Given the description of an element on the screen output the (x, y) to click on. 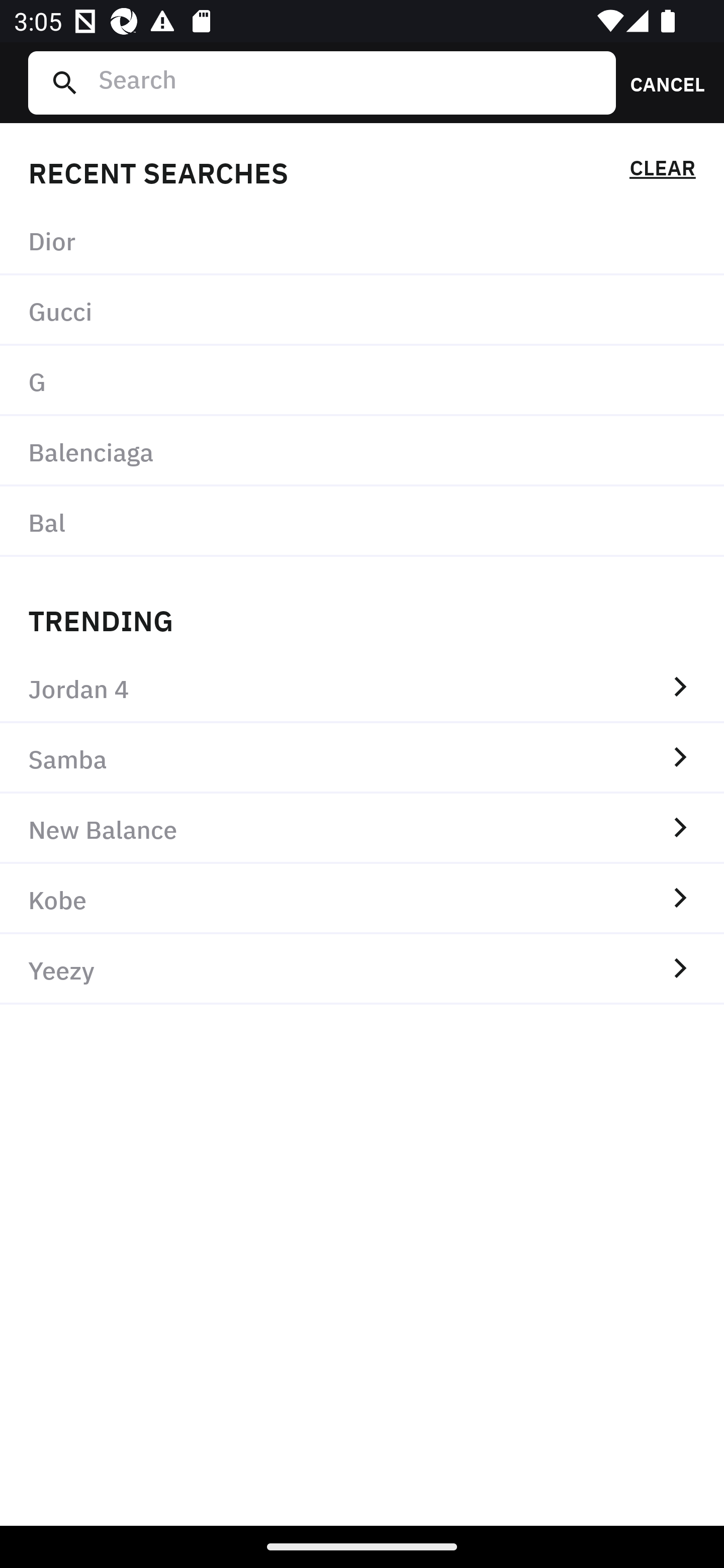
CANCEL (660, 82)
Search (349, 82)
CLEAR (662, 170)
Dior (362, 240)
Gucci (362, 310)
G (362, 380)
Balenciaga (362, 450)
Bal (362, 521)
Jordan 4  (362, 687)
Samba  (362, 757)
New Balance  (362, 828)
Kobe  (362, 898)
Yeezy  (362, 969)
